Given the description of an element on the screen output the (x, y) to click on. 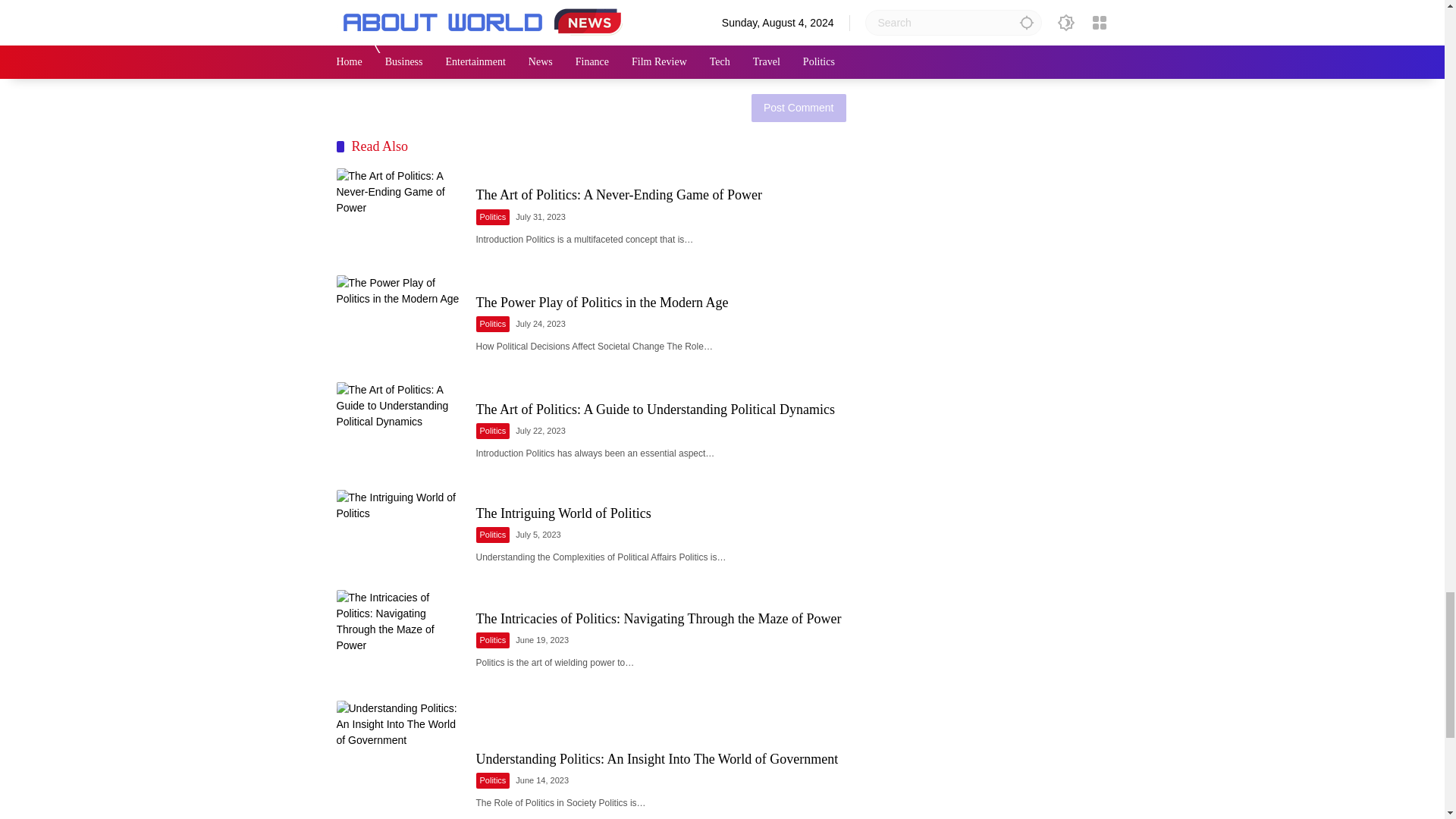
Post Comment (798, 126)
yes (342, 88)
